Given the description of an element on the screen output the (x, y) to click on. 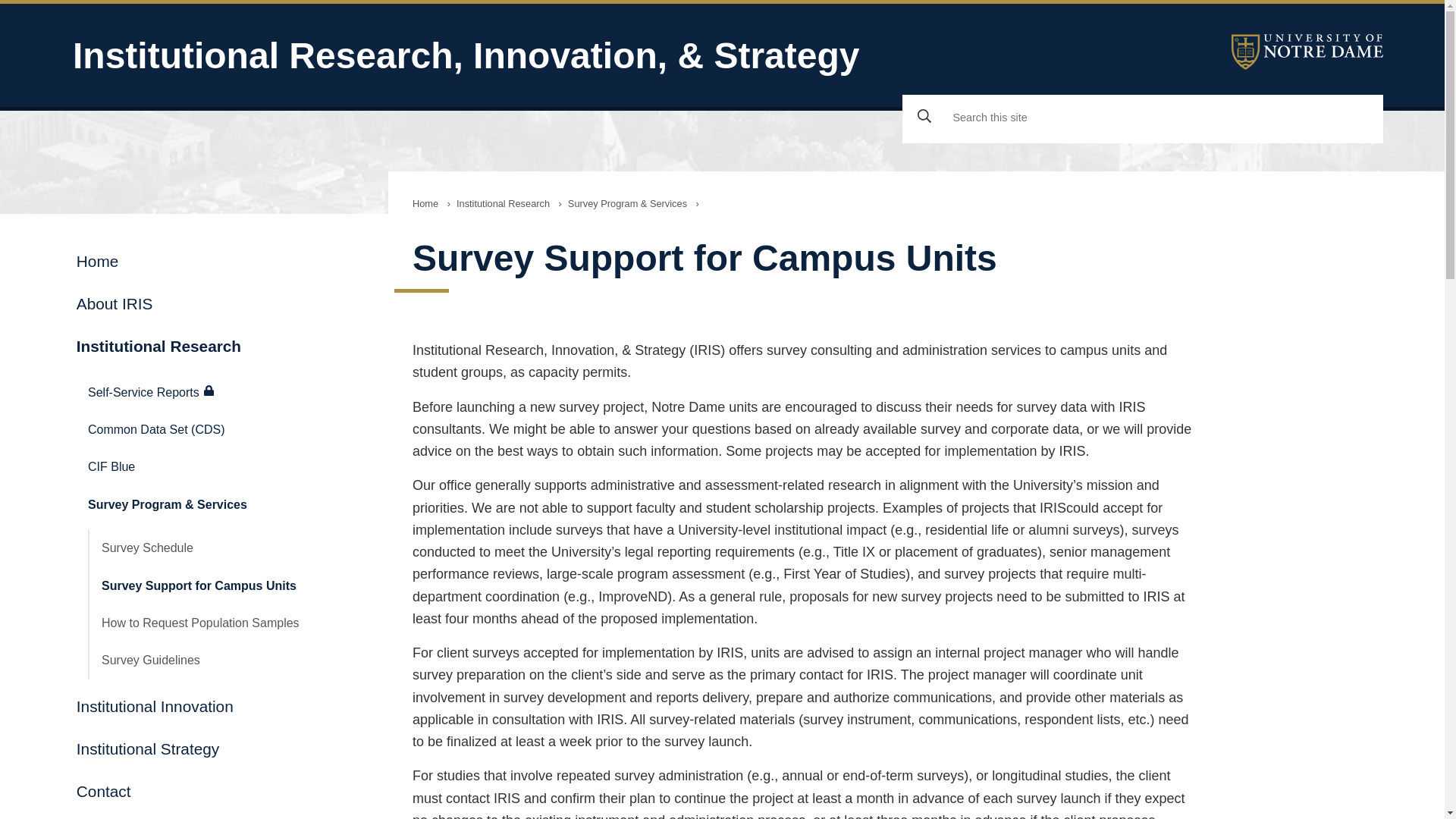
Survey Support for Campus Units (226, 584)
About IRIS (212, 302)
Survey Guidelines (226, 659)
Institutional Research (212, 345)
Institutional Research (502, 203)
type your search term (1164, 117)
University of Notre Dame (1307, 51)
Self-Service Reports (219, 391)
CIF Blue (219, 466)
How to Request Population Samples (226, 622)
Survey Schedule (226, 547)
Home (425, 203)
Home (212, 260)
